Given the description of an element on the screen output the (x, y) to click on. 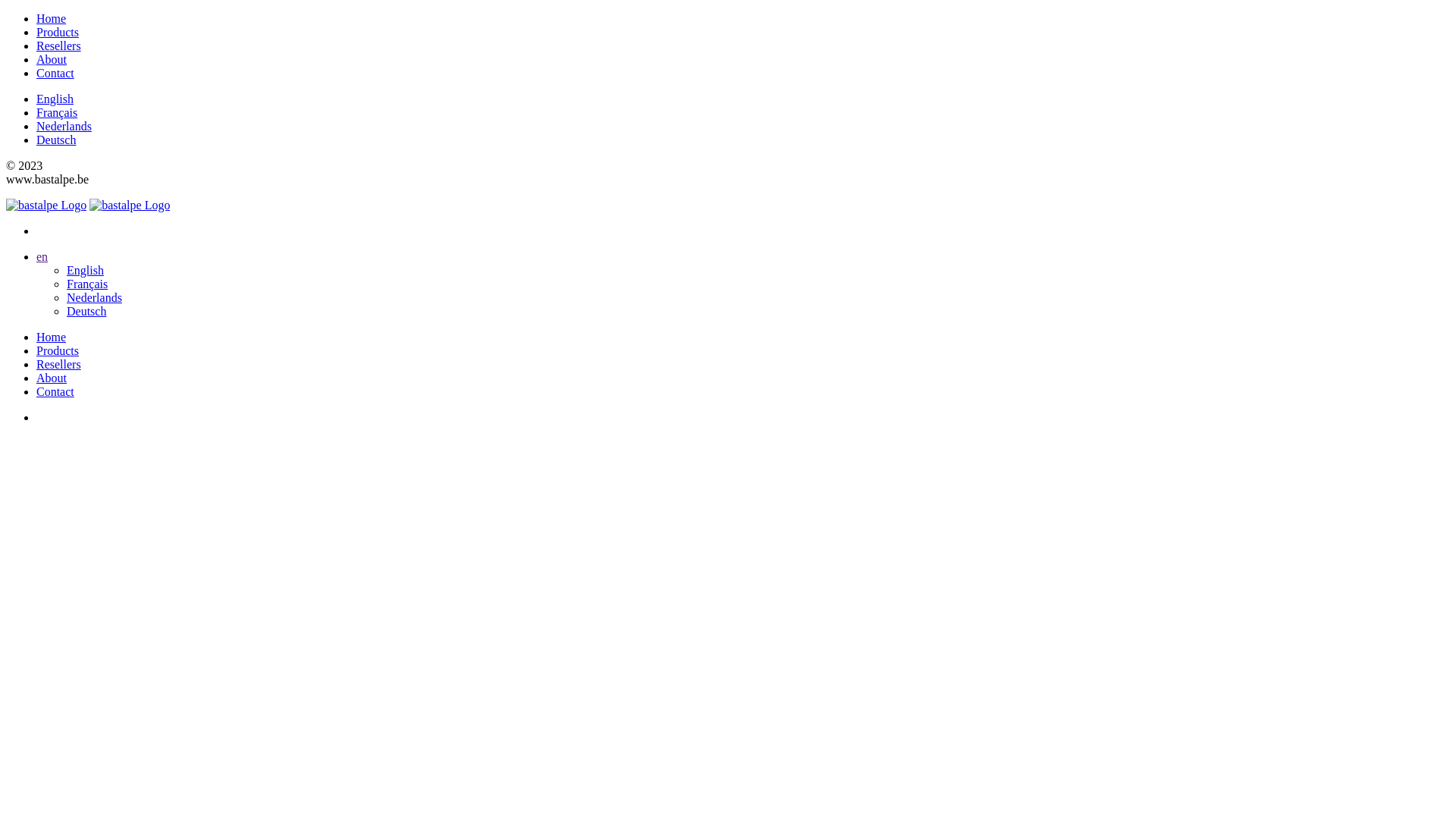
Resellers Element type: text (58, 363)
Resellers Element type: text (58, 45)
Contact Element type: text (55, 72)
English Element type: text (54, 98)
Home Element type: text (50, 336)
Deutsch Element type: text (55, 139)
en Element type: text (41, 256)
Products Element type: text (57, 350)
English Element type: text (84, 269)
Nederlands Element type: text (94, 297)
Nederlands Element type: text (63, 125)
About Element type: text (51, 377)
Products Element type: text (57, 31)
Contact Element type: text (55, 391)
Deutsch Element type: text (86, 310)
About Element type: text (51, 59)
Home Element type: text (50, 18)
